Given the description of an element on the screen output the (x, y) to click on. 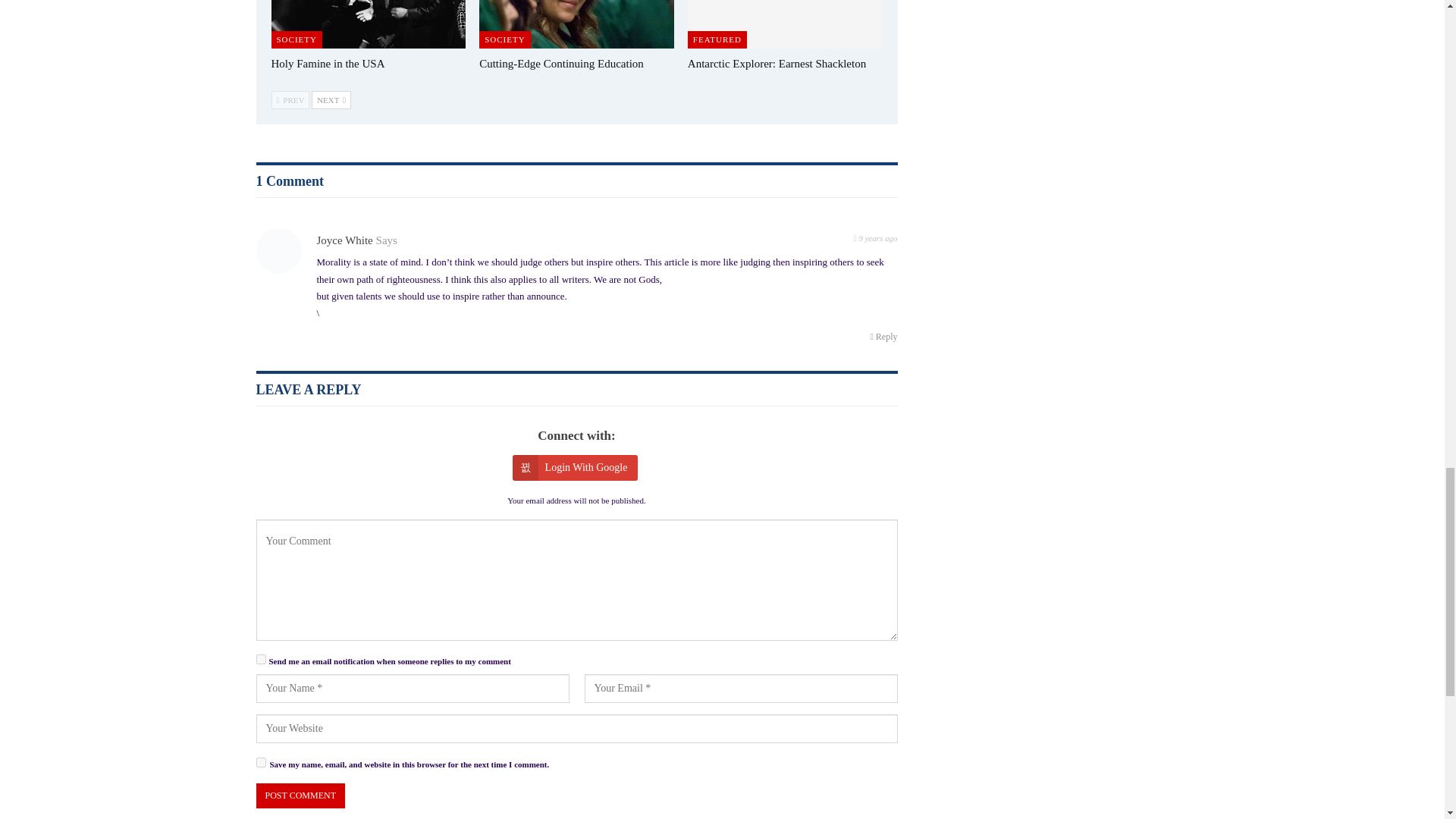
yes (261, 762)
Post Comment (300, 795)
1 (261, 659)
